Given the description of an element on the screen output the (x, y) to click on. 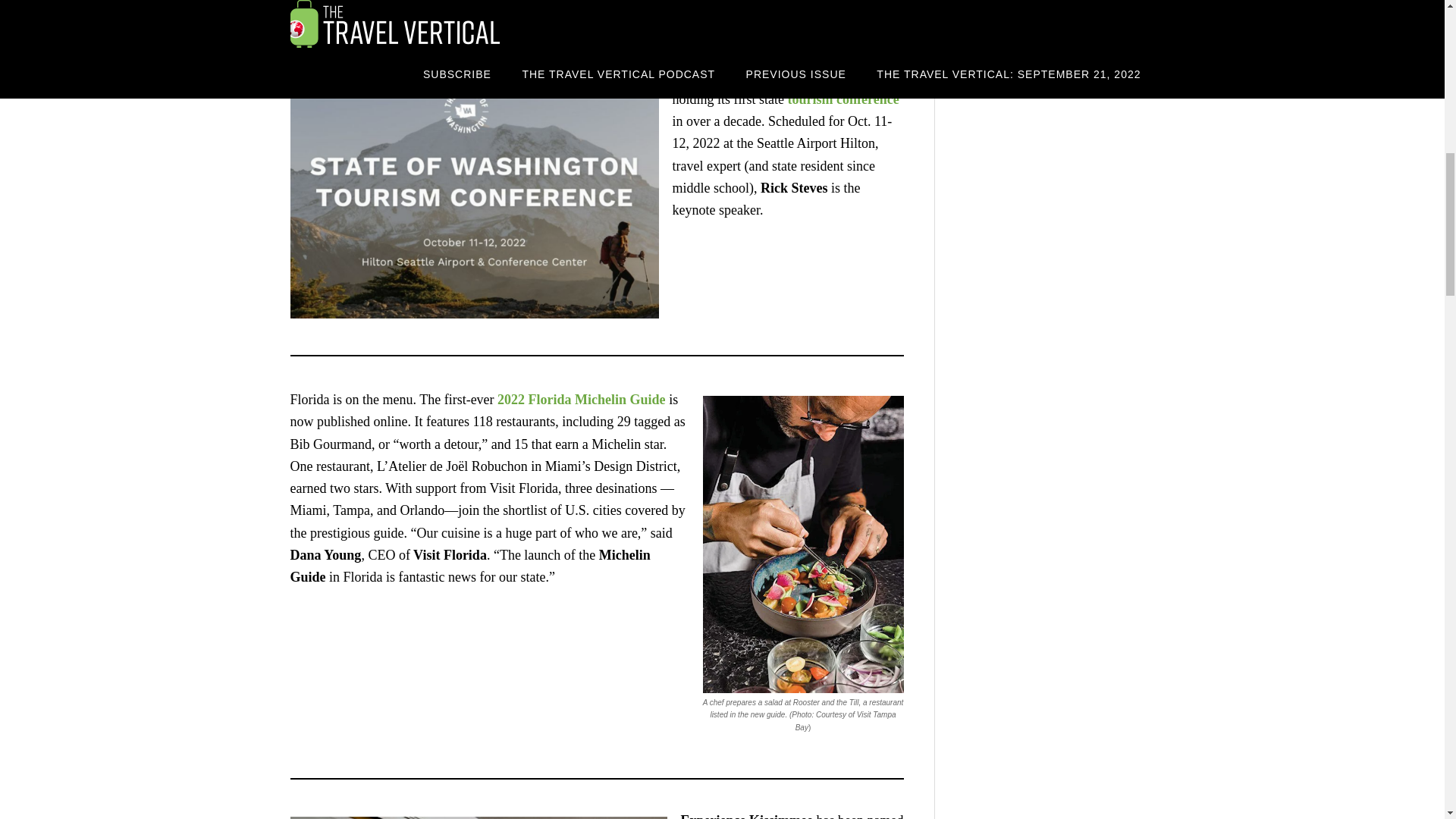
2022 Florida Michelin Guide (581, 399)
tourism conference (842, 99)
